Given the description of an element on the screen output the (x, y) to click on. 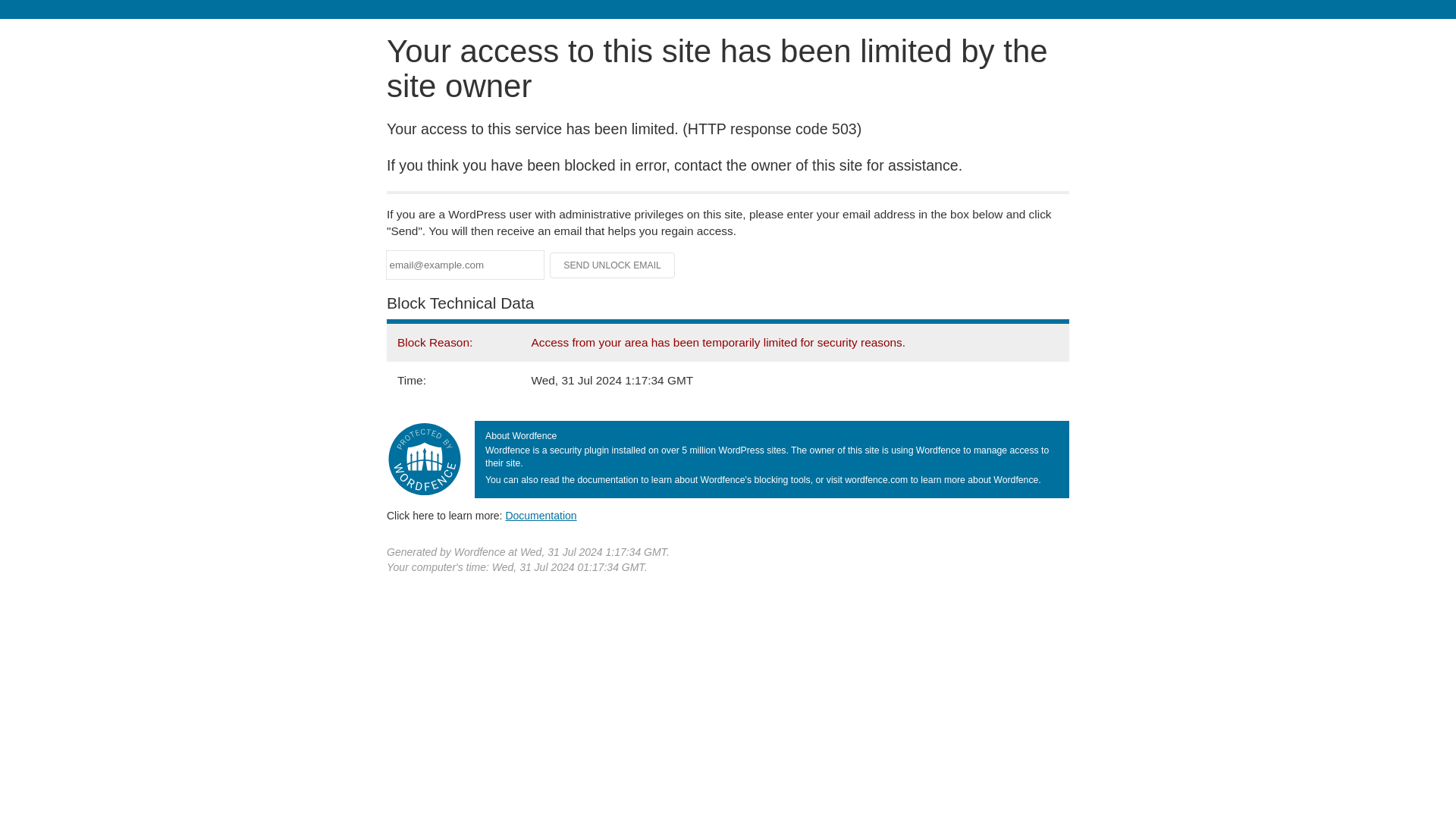
Send Unlock Email (612, 265)
Documentation (540, 515)
Send Unlock Email (612, 265)
